Given the description of an element on the screen output the (x, y) to click on. 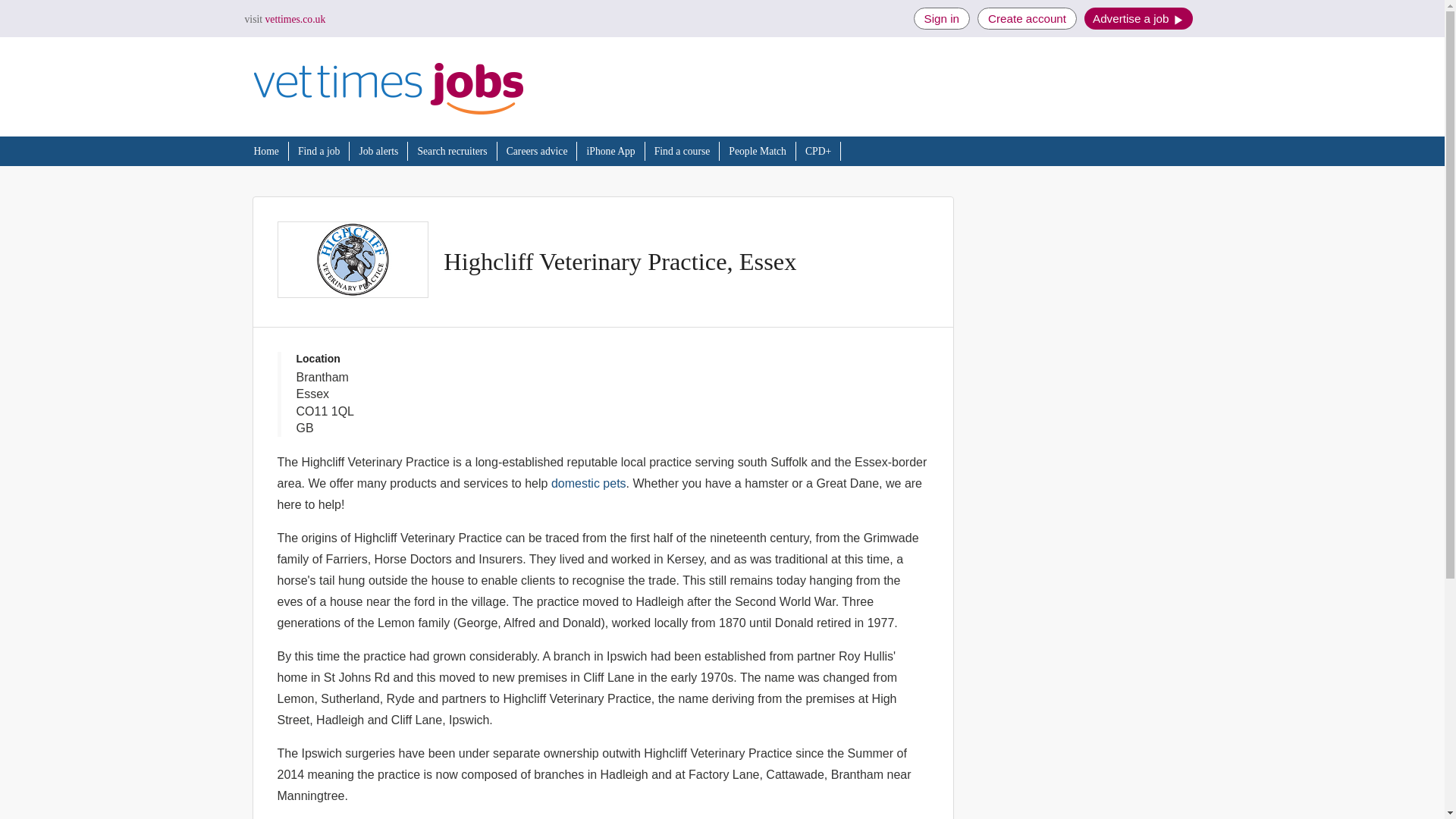
Create account (1026, 18)
Sign in (940, 18)
Find a course (681, 151)
domestic pets (588, 482)
vet times jobs (387, 88)
Home (265, 151)
Find a job (318, 151)
vettimes.co.uk (284, 19)
Job alerts (377, 151)
Advertise a job (1138, 18)
Search recruiters (451, 151)
People Match (757, 151)
iPhone App (610, 151)
Careers advice (536, 151)
